Given the description of an element on the screen output the (x, y) to click on. 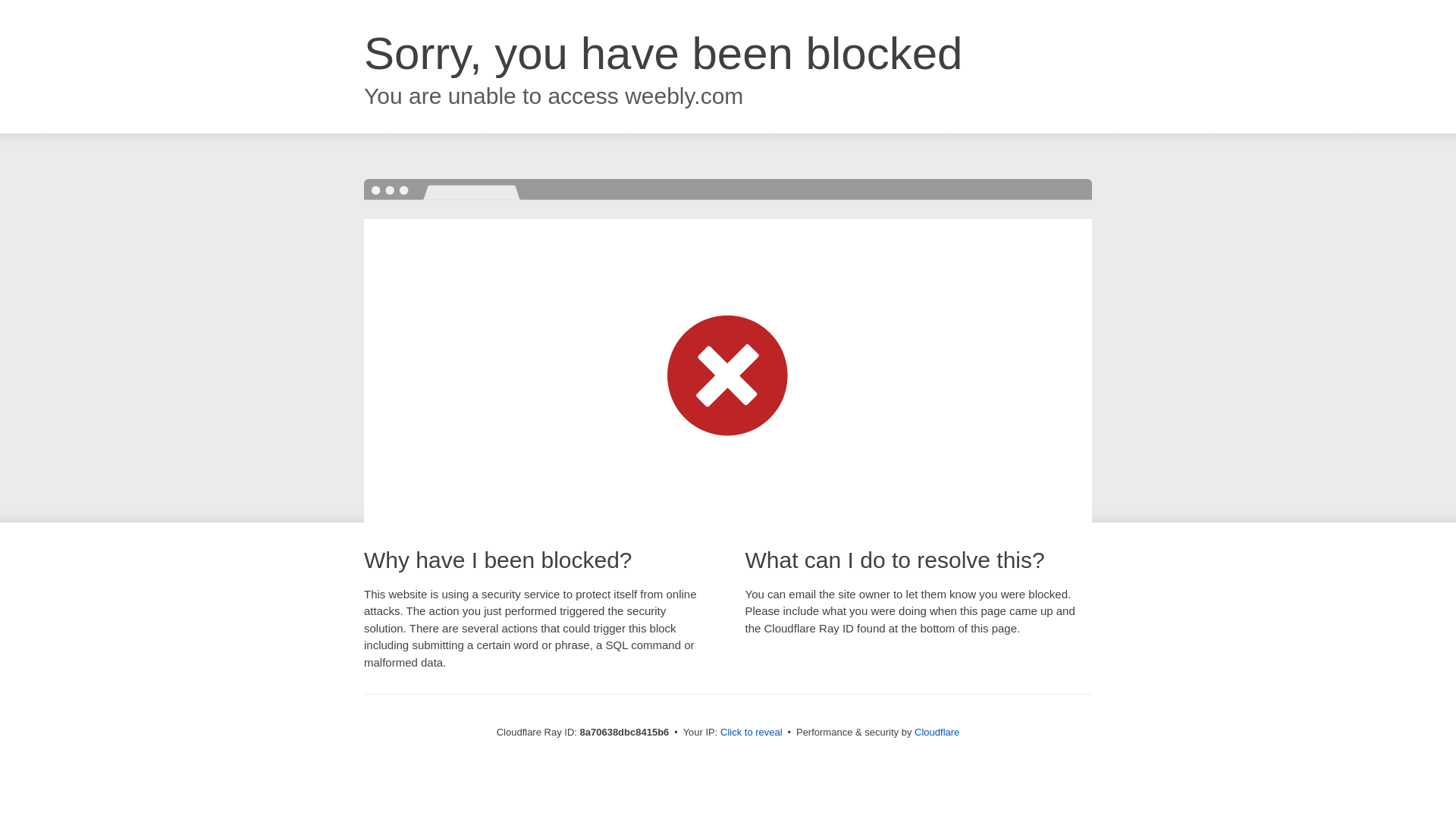
Cloudflare (936, 731)
Click to reveal (751, 732)
